Given the description of an element on the screen output the (x, y) to click on. 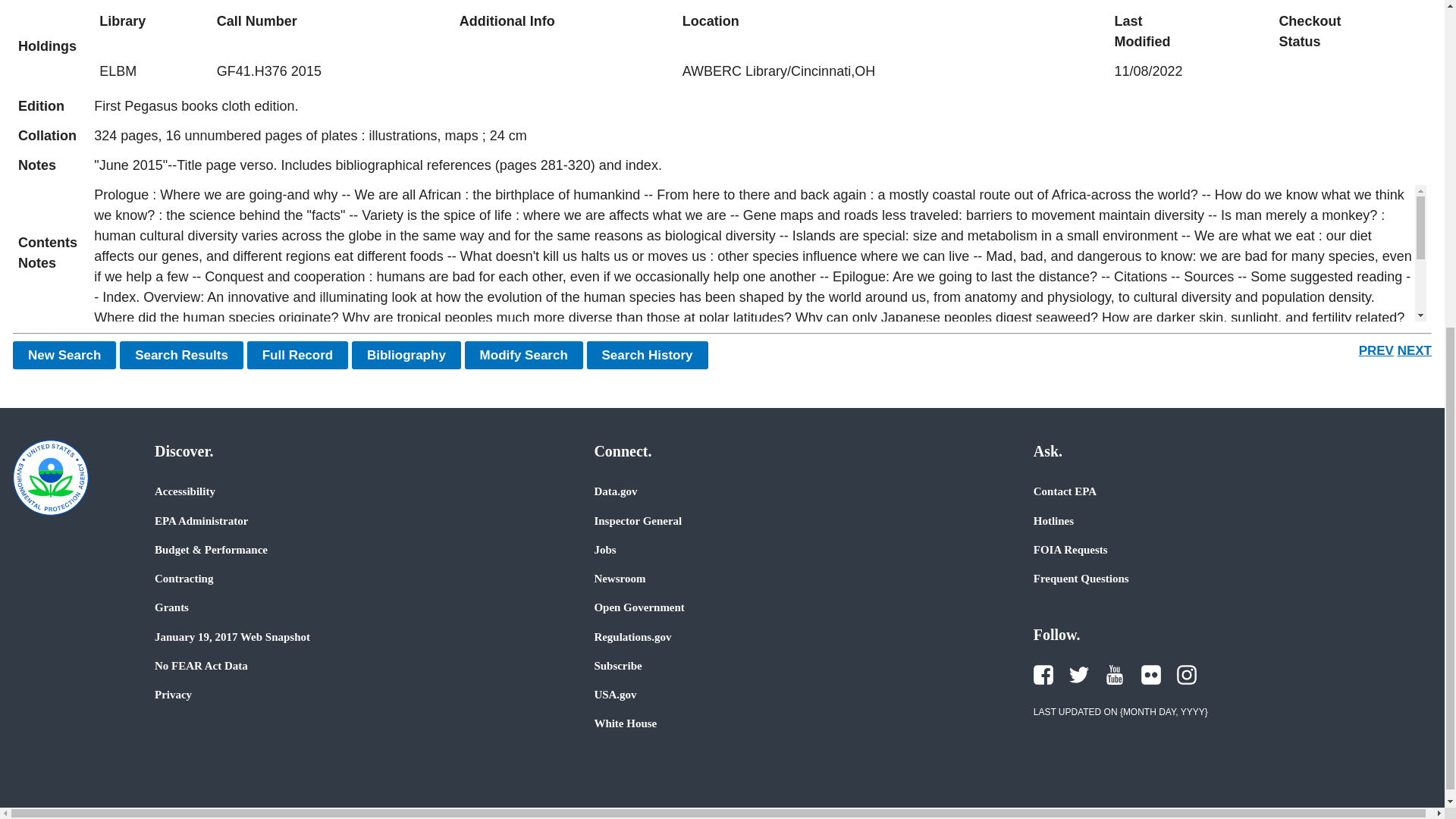
Bibliography (406, 355)
No FEAR Act Data (200, 665)
Full Record (298, 355)
full length text available by clicking full record (760, 165)
Show results in standard format (181, 355)
NEXT (1414, 350)
New Search (64, 355)
EPA Administrator (200, 520)
Search History (646, 355)
PREV (1375, 350)
